Given the description of an element on the screen output the (x, y) to click on. 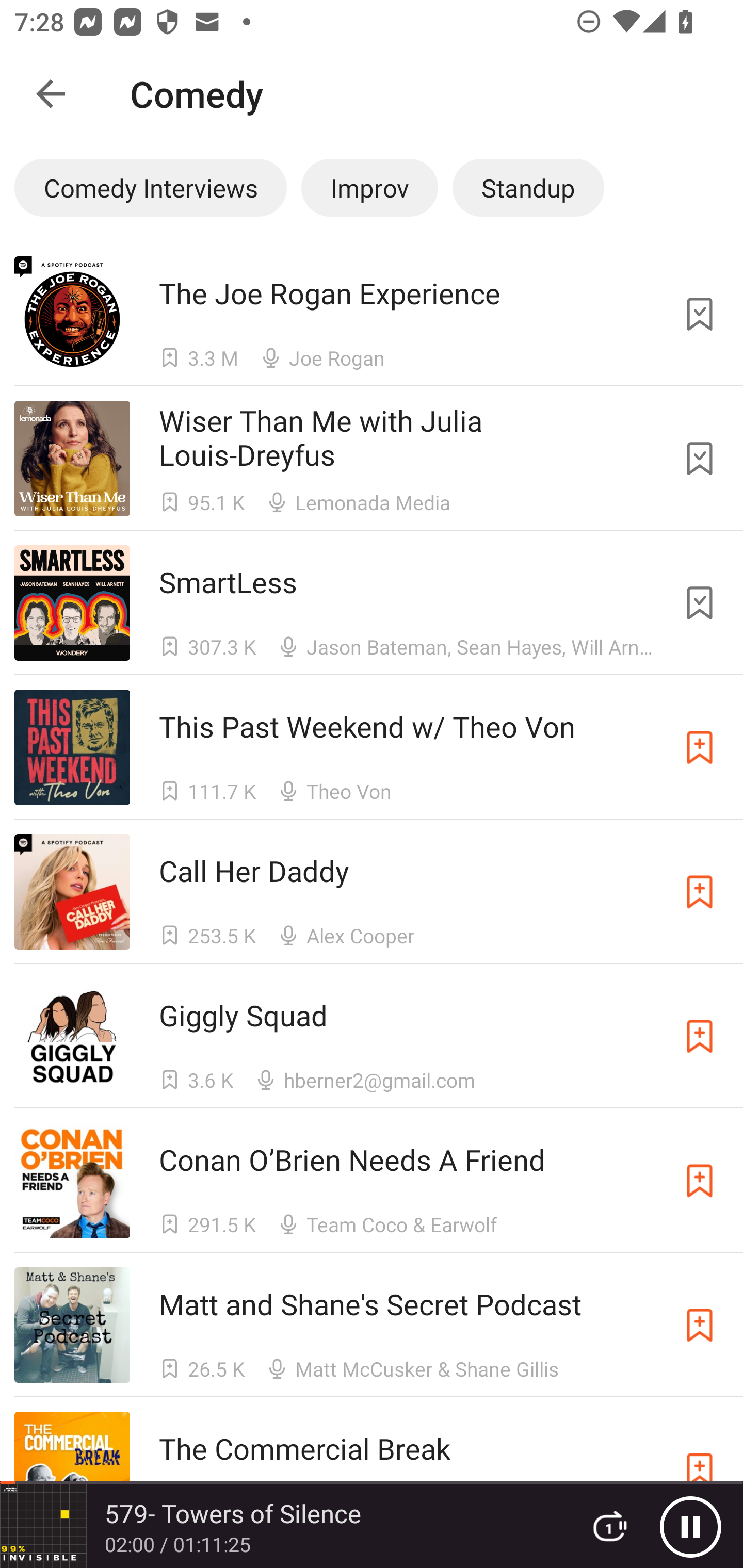
Navigate up (50, 93)
Comedy Interviews (150, 187)
Improv (369, 187)
Standup (528, 187)
Unsubscribe (699, 313)
Unsubscribe (699, 458)
Unsubscribe (699, 602)
Subscribe (699, 746)
Subscribe (699, 892)
Subscribe (699, 1036)
Subscribe (699, 1180)
Subscribe (699, 1324)
579- Towers of Silence 02:00 / 01:11:25 (283, 1525)
Pause (690, 1526)
